Given the description of an element on the screen output the (x, y) to click on. 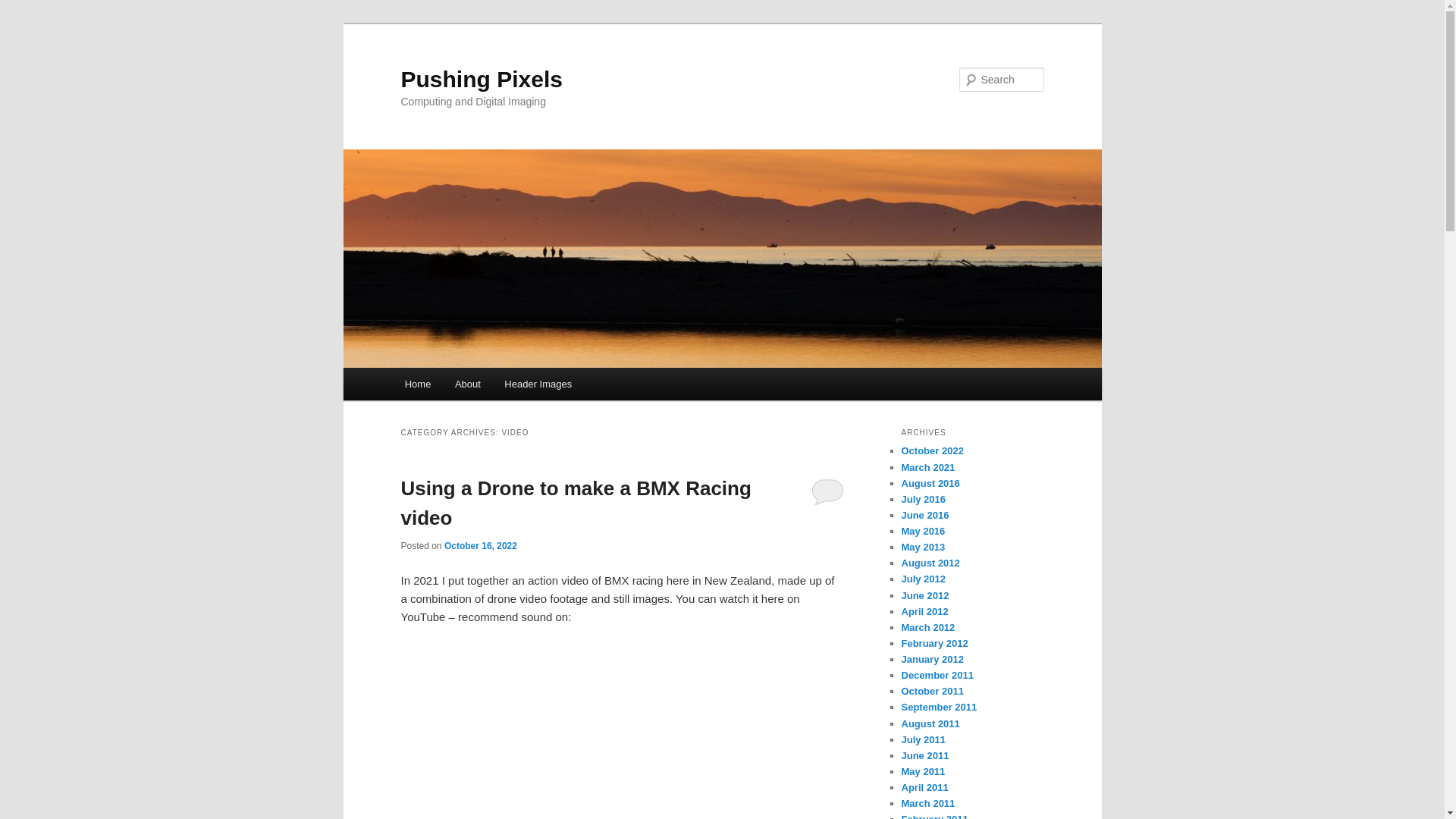
Racing at Kapiti BMX Club (621, 732)
August 2012 (930, 562)
May 2016 (922, 531)
Pushing Pixels (481, 78)
Search (24, 8)
October 2011 (931, 690)
June 2012 (925, 595)
Using a Drone to make a BMX Racing video (575, 502)
Header Images (538, 383)
October 2022 (931, 450)
